Given the description of an element on the screen output the (x, y) to click on. 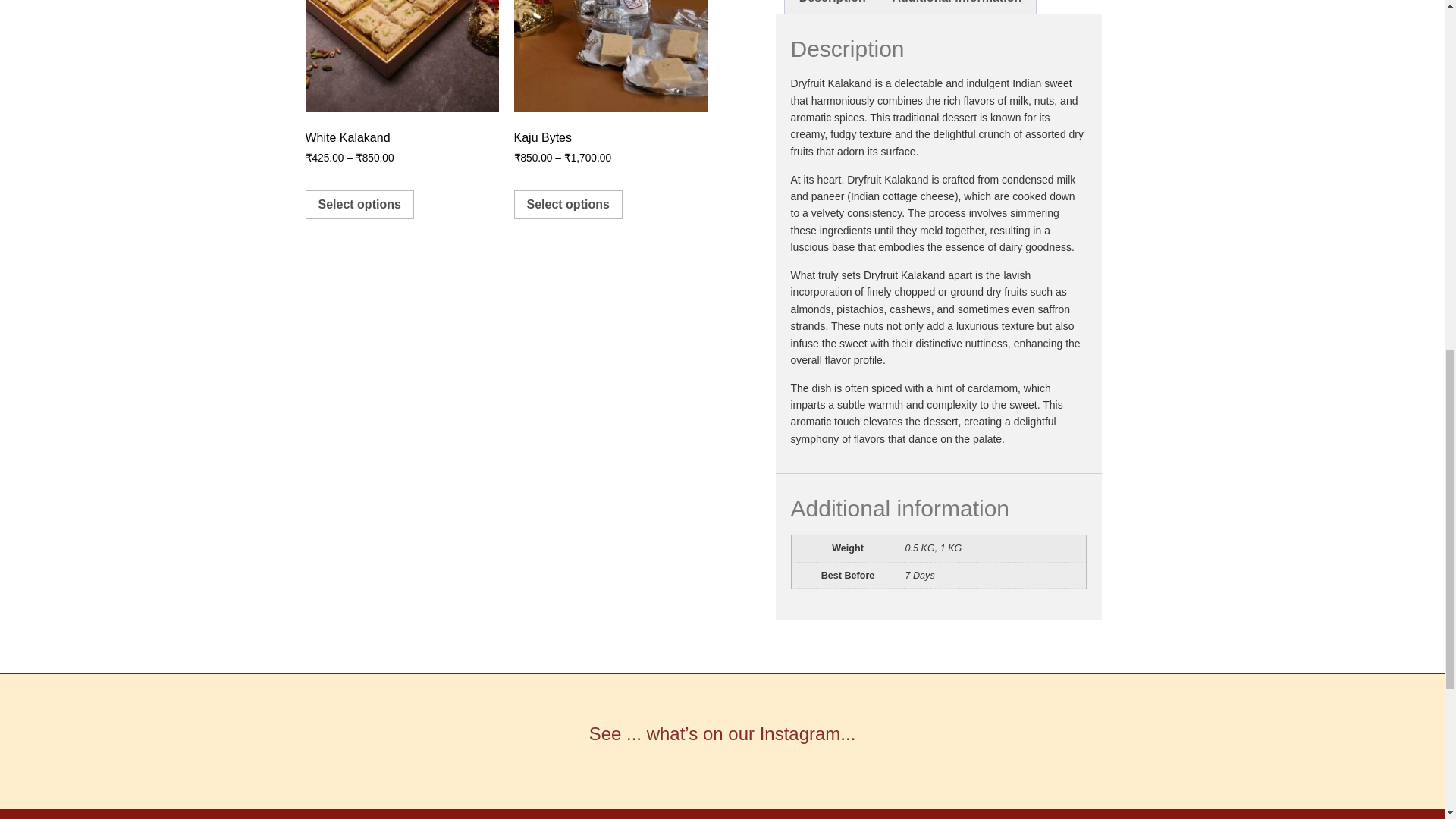
Additional information (956, 7)
Select options (358, 204)
Description (831, 7)
Select options (568, 204)
